Given the description of an element on the screen output the (x, y) to click on. 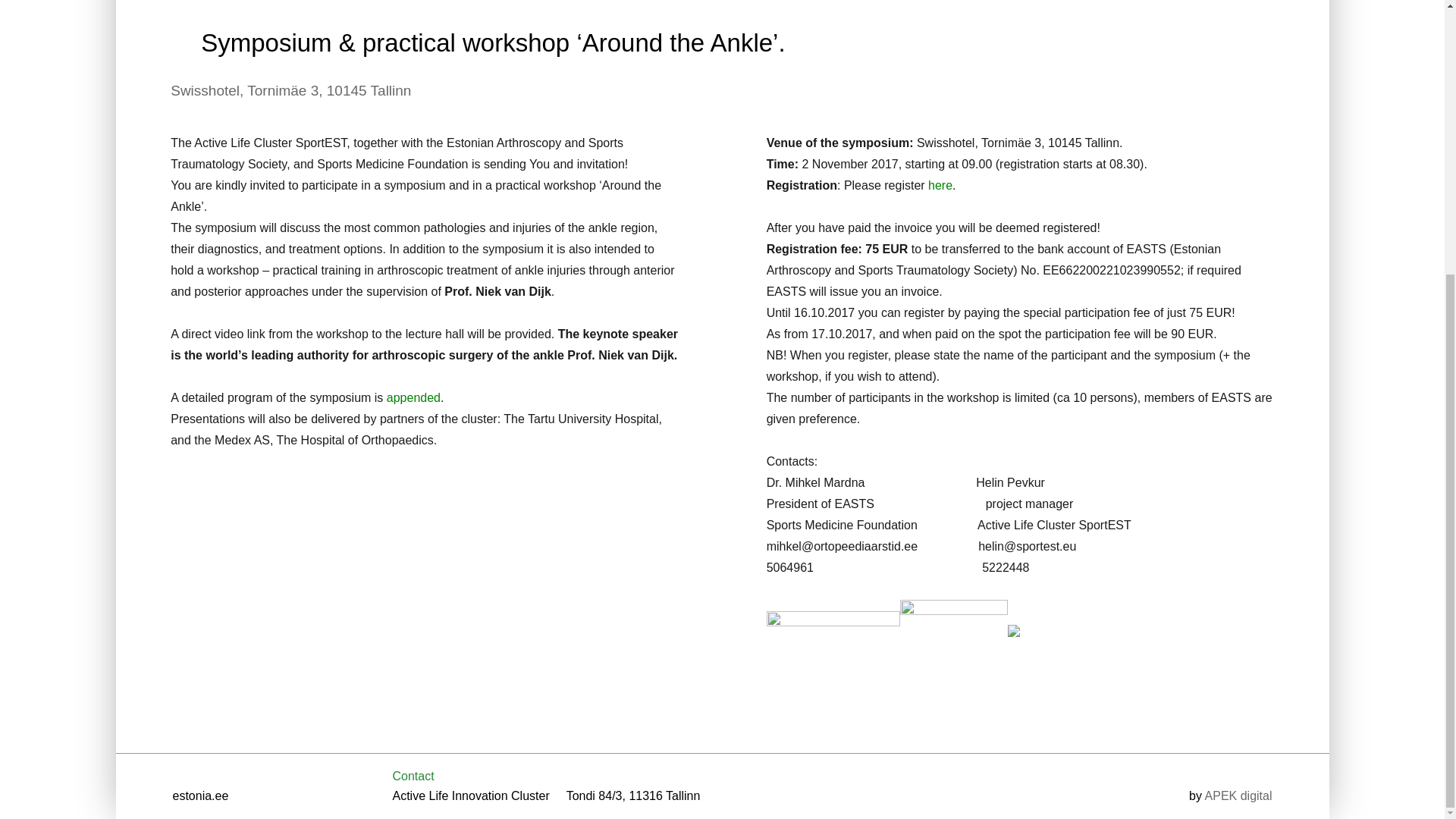
here (940, 185)
CLUSTER (400, 9)
ASSETS (758, 9)
appended (414, 397)
SERVICES (646, 9)
CONTACT (972, 9)
PARTNERS (522, 9)
EVENTS (862, 9)
Contact (413, 775)
APEK digital (1238, 795)
